Given the description of an element on the screen output the (x, y) to click on. 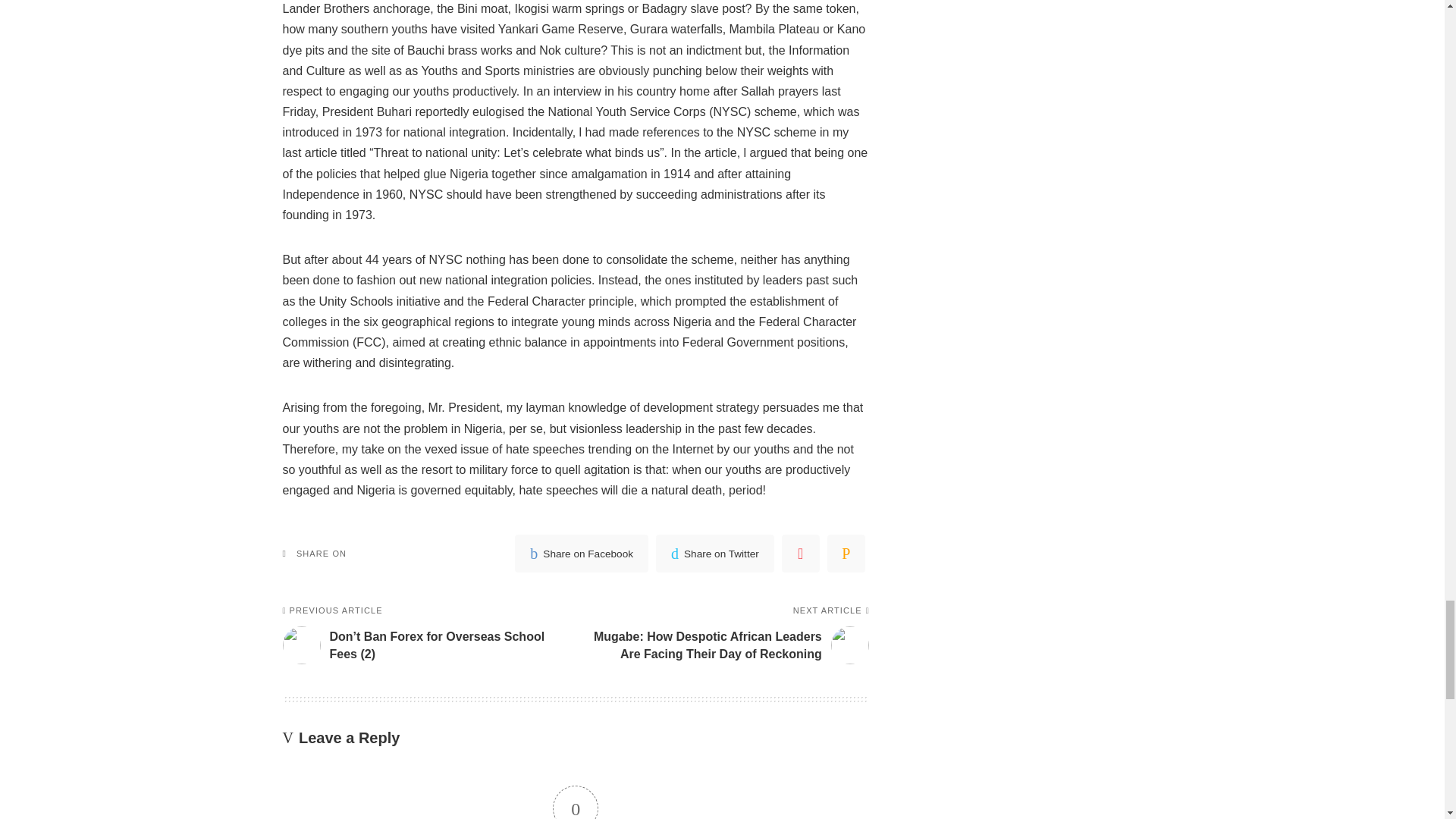
Twitter (715, 553)
Pinterest (800, 553)
Email (845, 553)
Share on Twitter (715, 553)
Share on Facebook (581, 553)
Facebook (581, 553)
